Given the description of an element on the screen output the (x, y) to click on. 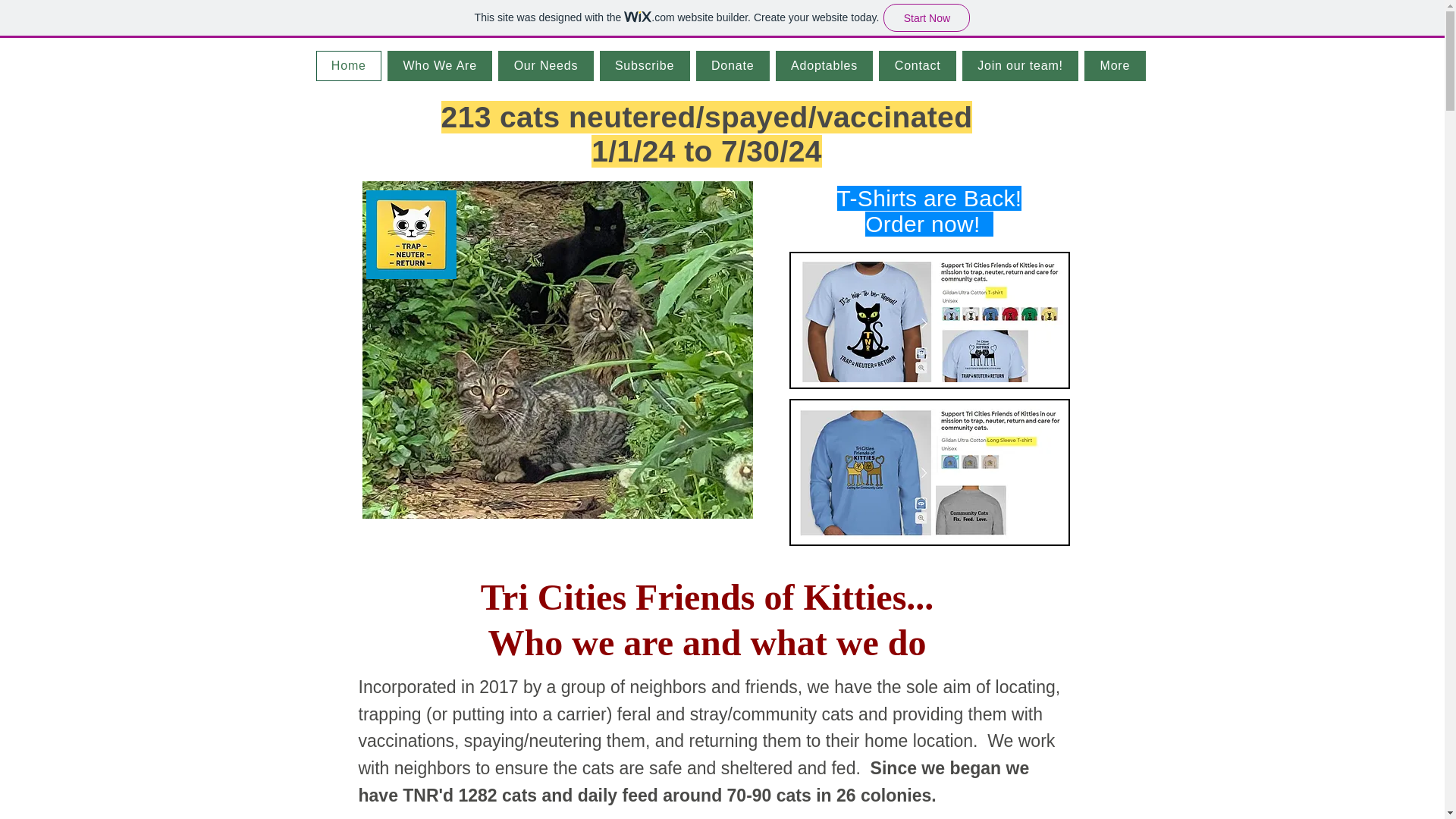
Our Needs (544, 65)
Subscribe (644, 65)
Who We Are (439, 65)
Contact (917, 65)
Adoptables (824, 65)
More (1114, 65)
Join our team! (1020, 65)
Home (348, 65)
Donate (732, 65)
